Given the description of an element on the screen output the (x, y) to click on. 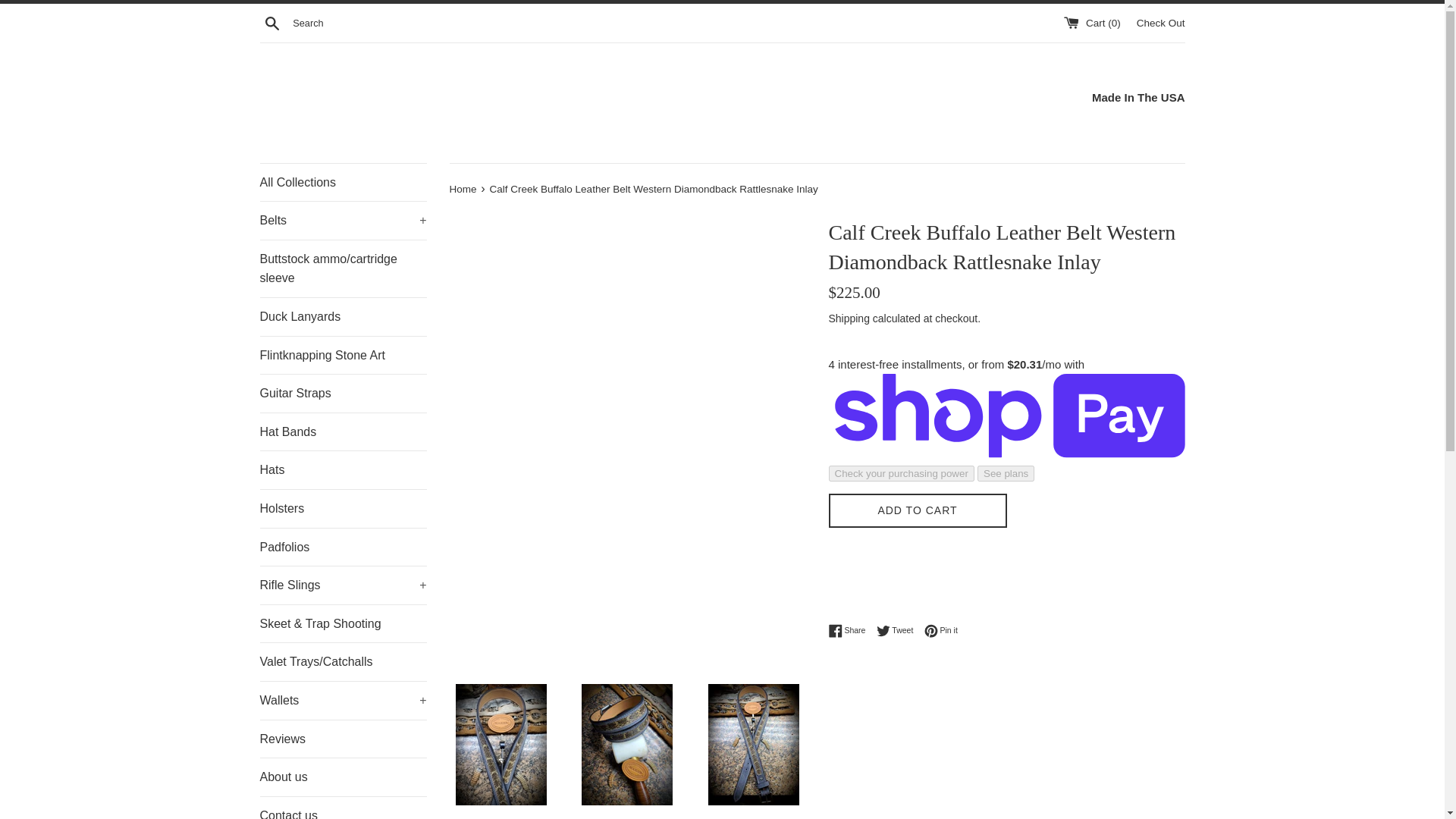
Guitar Straps (342, 393)
Contact us (342, 807)
Flintknapping Stone Art (342, 355)
All Collections (342, 182)
Check Out (1161, 21)
Search (271, 21)
Hat Bands (342, 432)
Padfolios (342, 547)
Home (463, 188)
Reviews (342, 739)
Pin on Pinterest (941, 631)
Share on Facebook (850, 631)
Tweet on Twitter (898, 631)
Back to the frontpage (463, 188)
About us (342, 777)
